Given the description of an element on the screen output the (x, y) to click on. 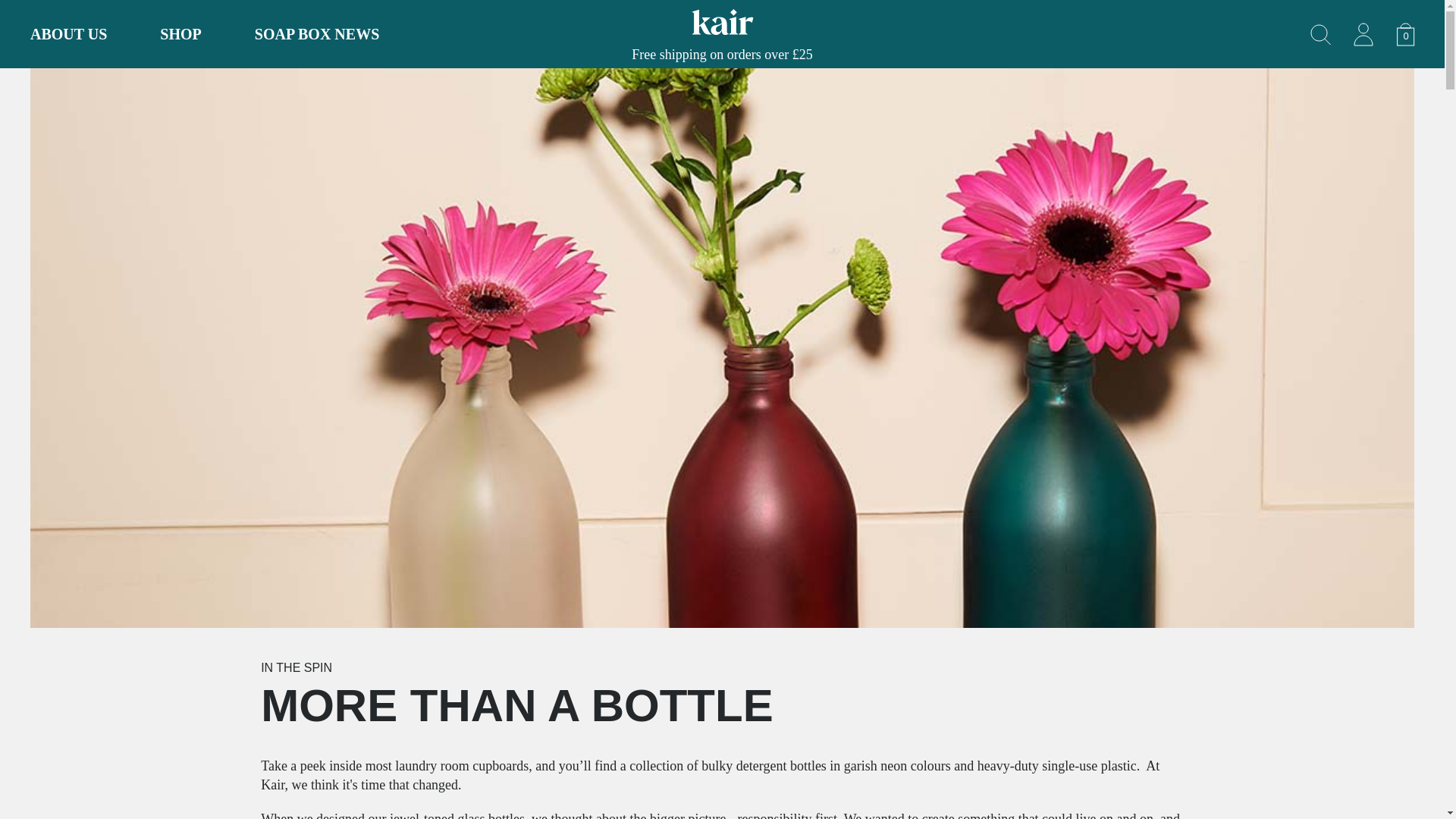
SOAP BOX NEWS (1405, 33)
Group 5 (316, 33)
Group 5 (1321, 33)
SHOP (1321, 34)
ABOUT US (180, 33)
